Given the description of an element on the screen output the (x, y) to click on. 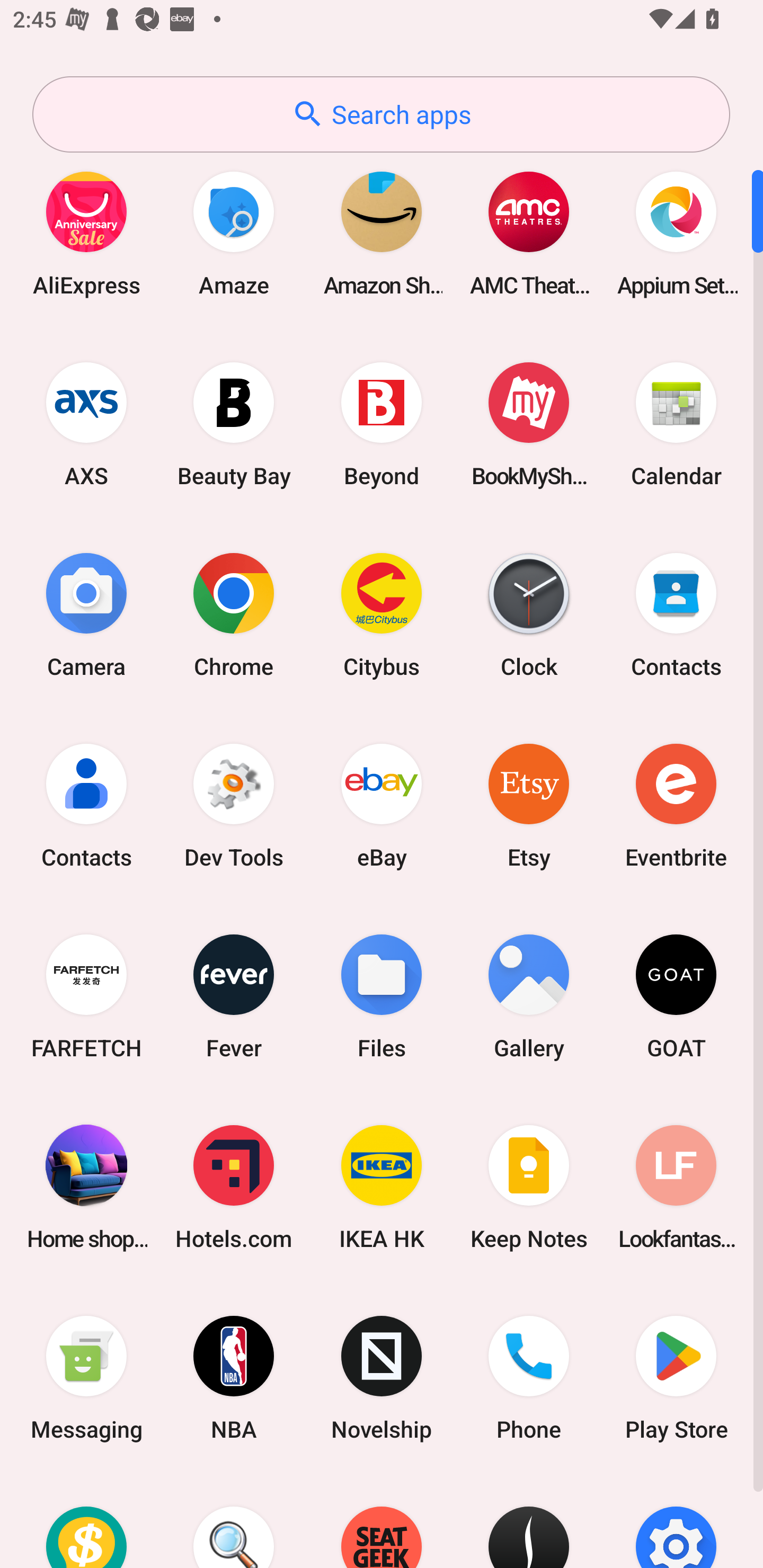
  Search apps (381, 114)
AliExpress (86, 233)
Amaze (233, 233)
Amazon Shopping (381, 233)
AMC Theatres (528, 233)
Appium Settings (676, 233)
AXS (86, 424)
Beauty Bay (233, 424)
Beyond (381, 424)
BookMyShow (528, 424)
Calendar (676, 424)
Camera (86, 614)
Chrome (233, 614)
Citybus (381, 614)
Clock (528, 614)
Contacts (676, 614)
Contacts (86, 805)
Dev Tools (233, 805)
eBay (381, 805)
Etsy (528, 805)
Eventbrite (676, 805)
FARFETCH (86, 996)
Fever (233, 996)
Files (381, 996)
Gallery (528, 996)
GOAT (676, 996)
Home shopping (86, 1186)
Hotels.com (233, 1186)
IKEA HK (381, 1186)
Keep Notes (528, 1186)
Lookfantastic (676, 1186)
Messaging (86, 1377)
NBA (233, 1377)
Novelship (381, 1377)
Phone (528, 1377)
Play Store (676, 1377)
